Given the description of an element on the screen output the (x, y) to click on. 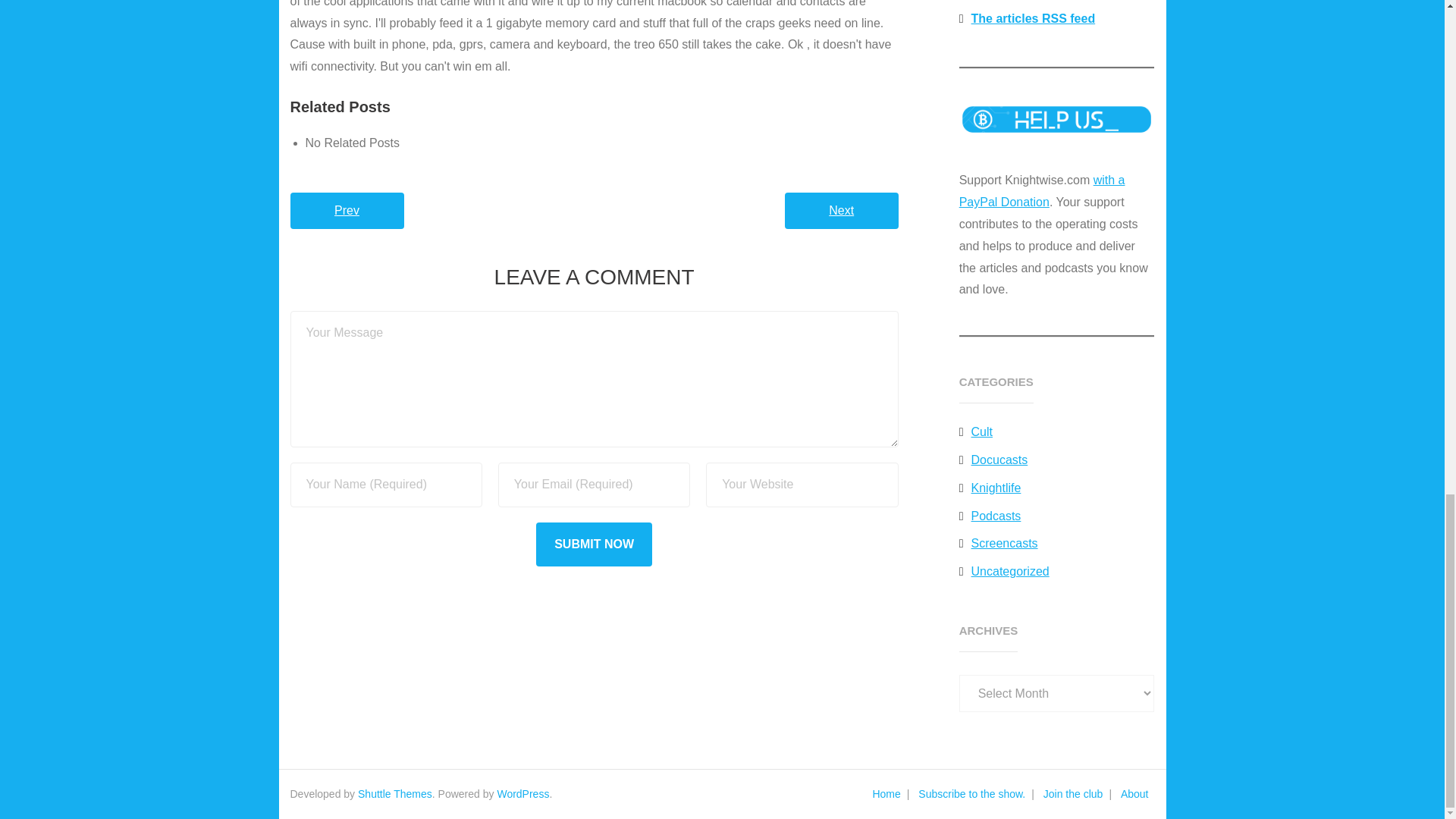
Docucasts (993, 460)
Next (841, 210)
The podcast RSS feed (1029, 2)
Submit Now (593, 543)
with a PayPal Donation (1042, 190)
Home (885, 793)
Join the club (1072, 793)
The articles RSS feed (1026, 18)
Cult (975, 432)
WordPress (522, 793)
Screencasts (998, 543)
Prev (346, 210)
Podcasts (990, 516)
Uncategorized (1004, 571)
Subscribe to the show. (971, 793)
